Given the description of an element on the screen output the (x, y) to click on. 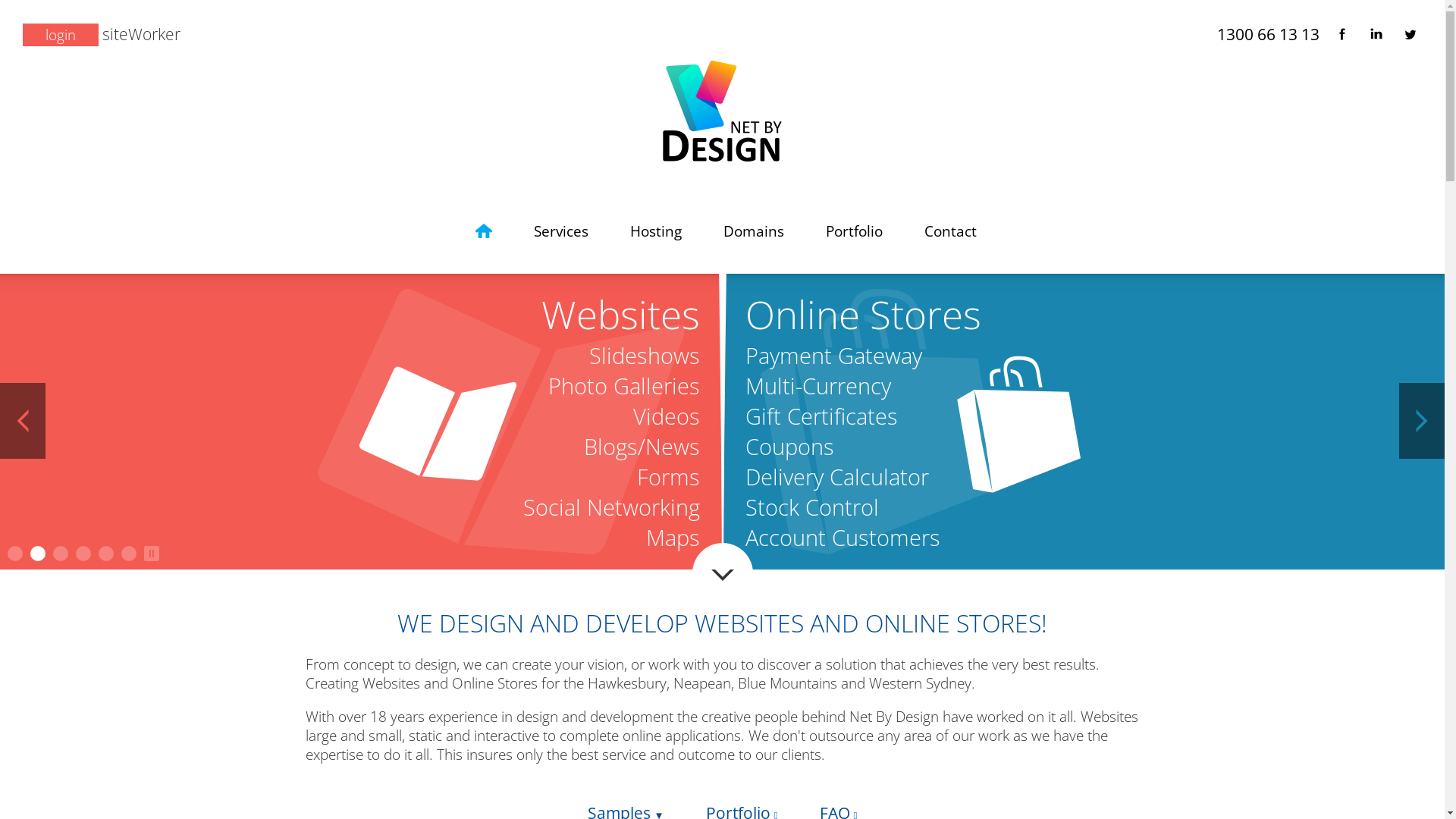
Home Element type: hover (483, 230)
login Element type: text (60, 34)
Domains Element type: text (753, 230)
Portfolio Element type: text (853, 230)
Hosting Element type: text (655, 230)
Contact Element type: text (950, 230)
